Given the description of an element on the screen output the (x, y) to click on. 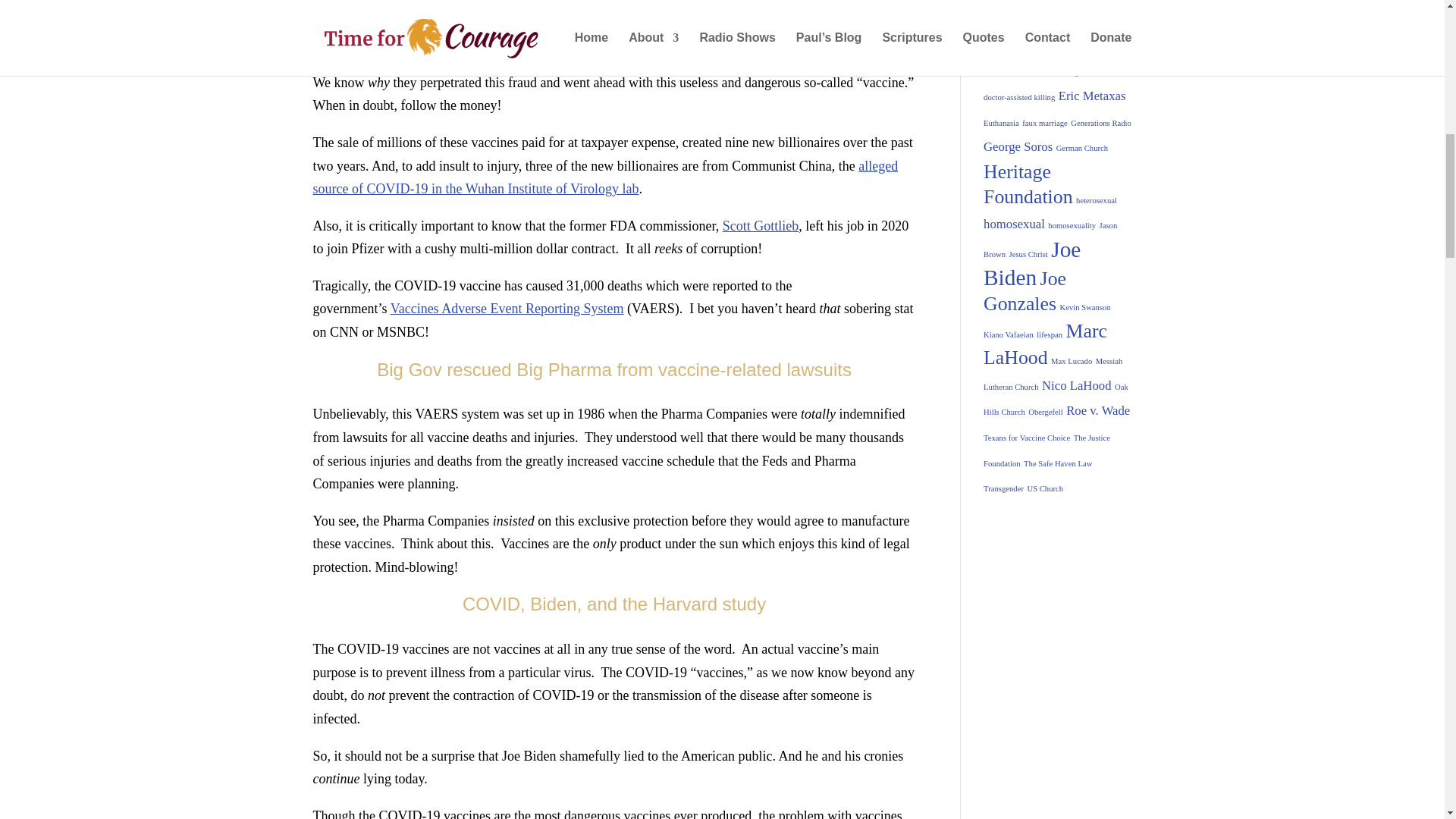
Scott Gottlieb (760, 225)
Vaccines Adverse Event Reporting System (507, 308)
